Given the description of an element on the screen output the (x, y) to click on. 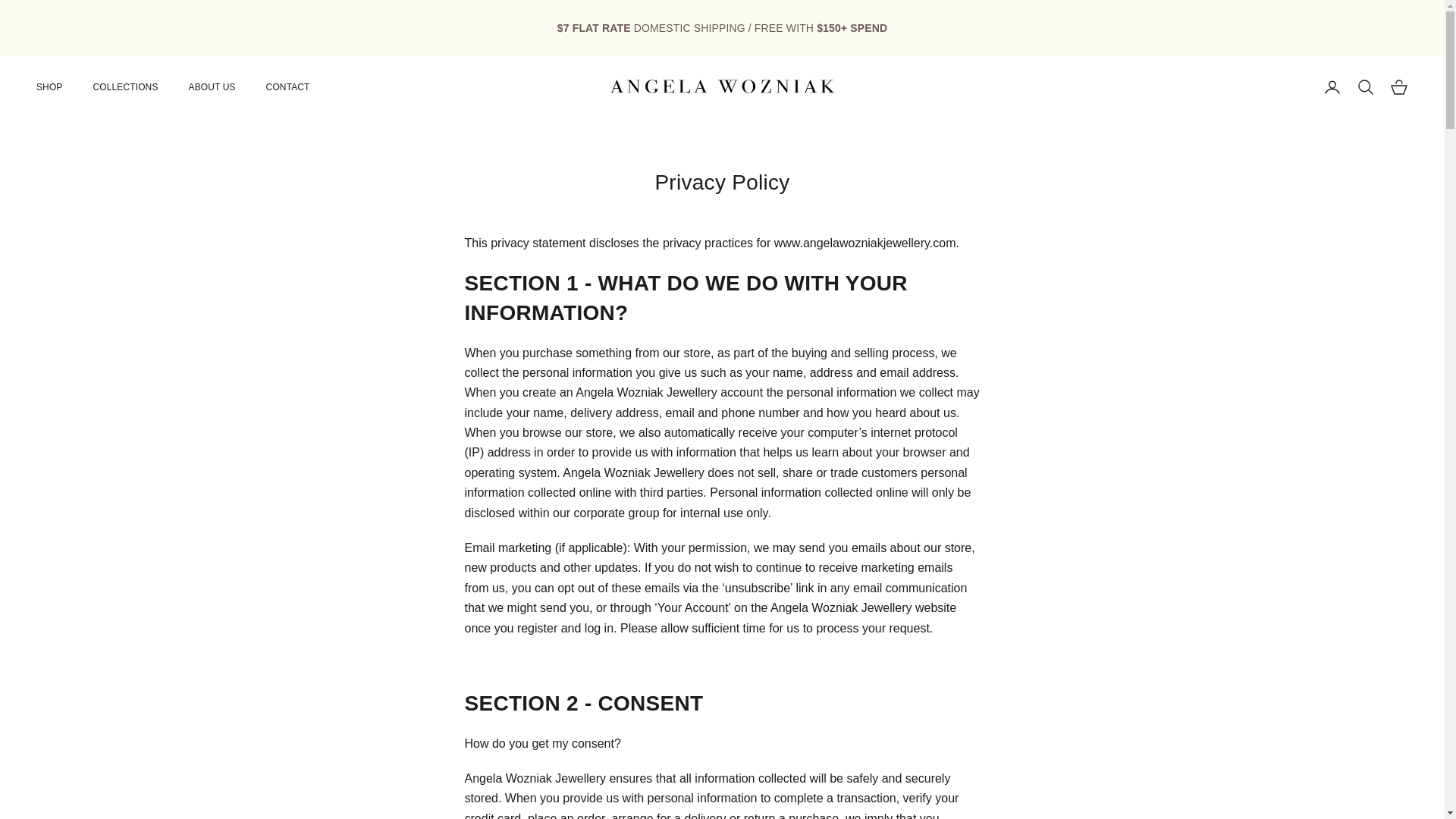
Open cart (1398, 86)
Open account page (1331, 86)
Open search (1365, 86)
CONTACT (288, 87)
Angela Wozniak Jewellery (721, 87)
